Given the description of an element on the screen output the (x, y) to click on. 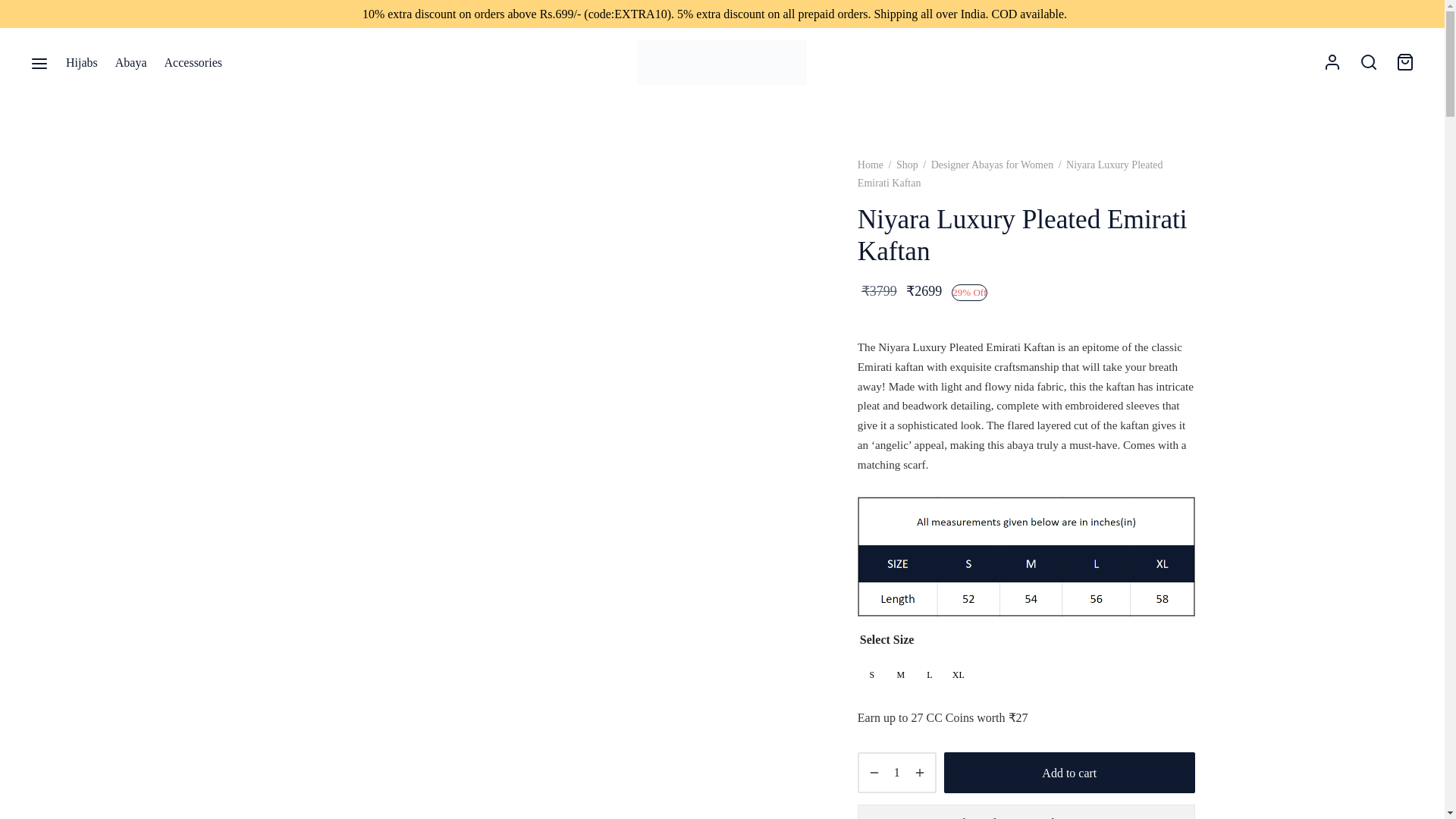
Hijabs (81, 62)
L (929, 674)
S (871, 674)
M (900, 674)
XL (958, 674)
Cart (1404, 62)
1 (896, 772)
Qty (896, 772)
